Given the description of an element on the screen output the (x, y) to click on. 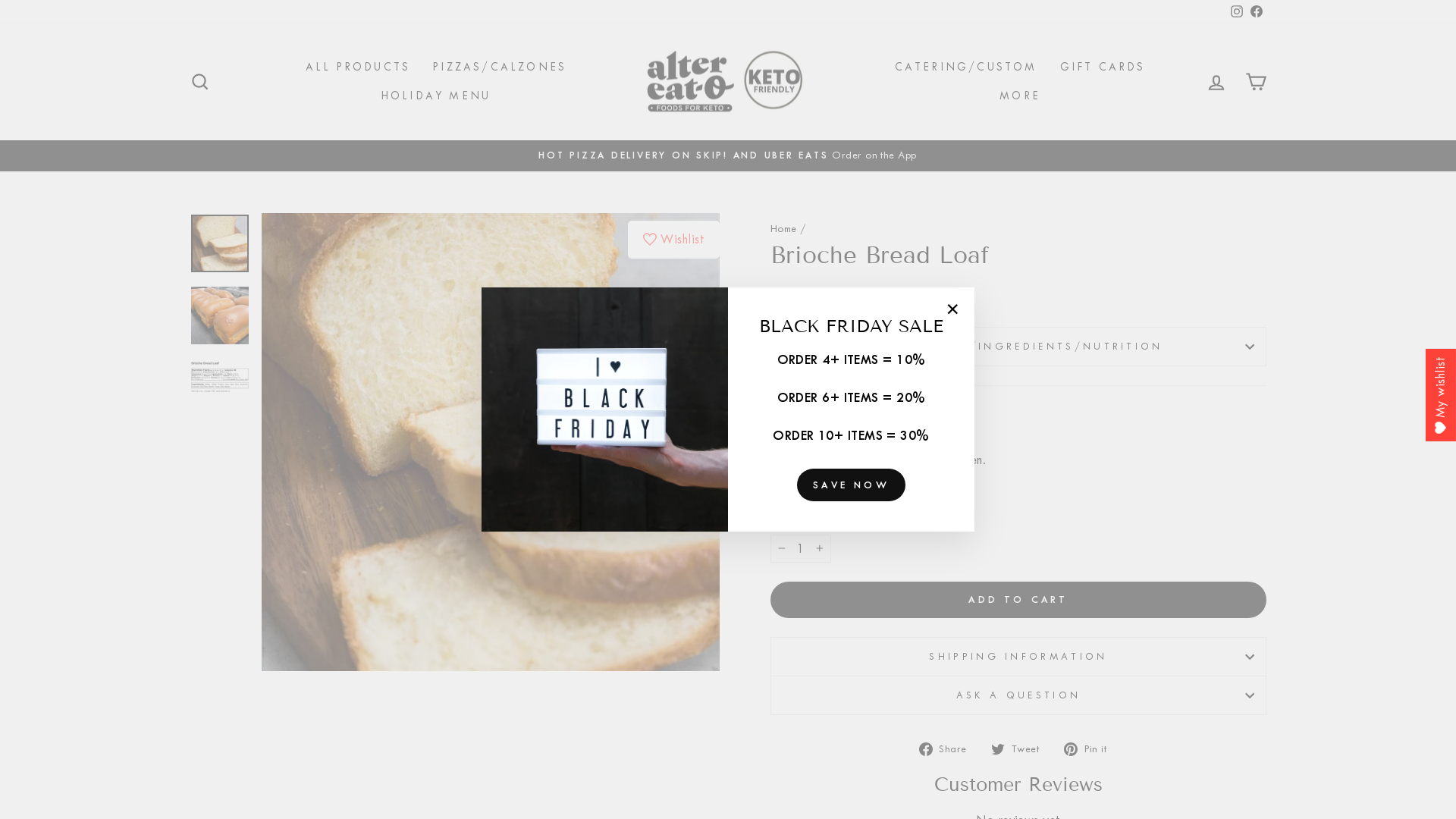
GIFT CARDS Element type: text (1102, 67)
Instagram Element type: text (1236, 11)
Facebook Element type: text (1256, 11)
SHIPPING INFORMATION Element type: text (1018, 656)
Wishlist Element type: text (673, 239)
Home Element type: text (783, 228)
Share
Share on Facebook Element type: text (948, 746)
CART Element type: text (1255, 81)
+ Element type: text (819, 548)
ALL PRODUCTS Element type: text (357, 67)
ASK A QUESTION Element type: text (1018, 695)
SAVE NOW Element type: text (851, 485)
"Close (esc)" Element type: text (952, 308)
PIZZAS/CALZONES Element type: text (499, 67)
ADD TO CART Element type: text (1018, 599)
CATERING/CUSTOM Element type: text (965, 67)
SEARCH Element type: text (199, 81)
LOG IN Element type: text (1216, 81)
Pin it
Pin on Pinterest Element type: text (1090, 746)
DESCRIPTION/INGREDIENTS/NUTRITION Element type: text (1018, 345)
Tweet
Tweet on Twitter Element type: text (1020, 746)
MORE Element type: text (1019, 95)
